Given the description of an element on the screen output the (x, y) to click on. 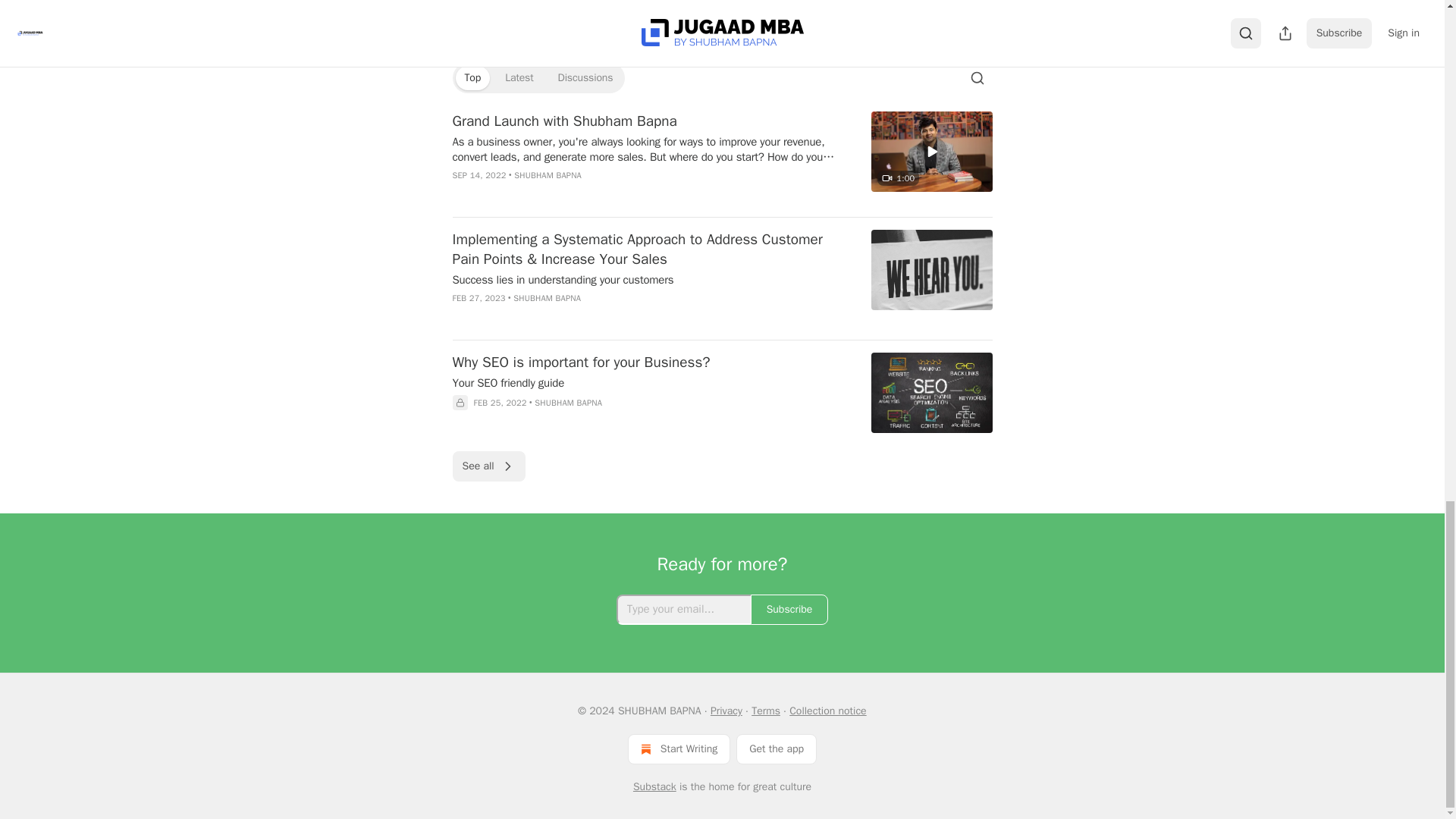
Top (471, 78)
